Given the description of an element on the screen output the (x, y) to click on. 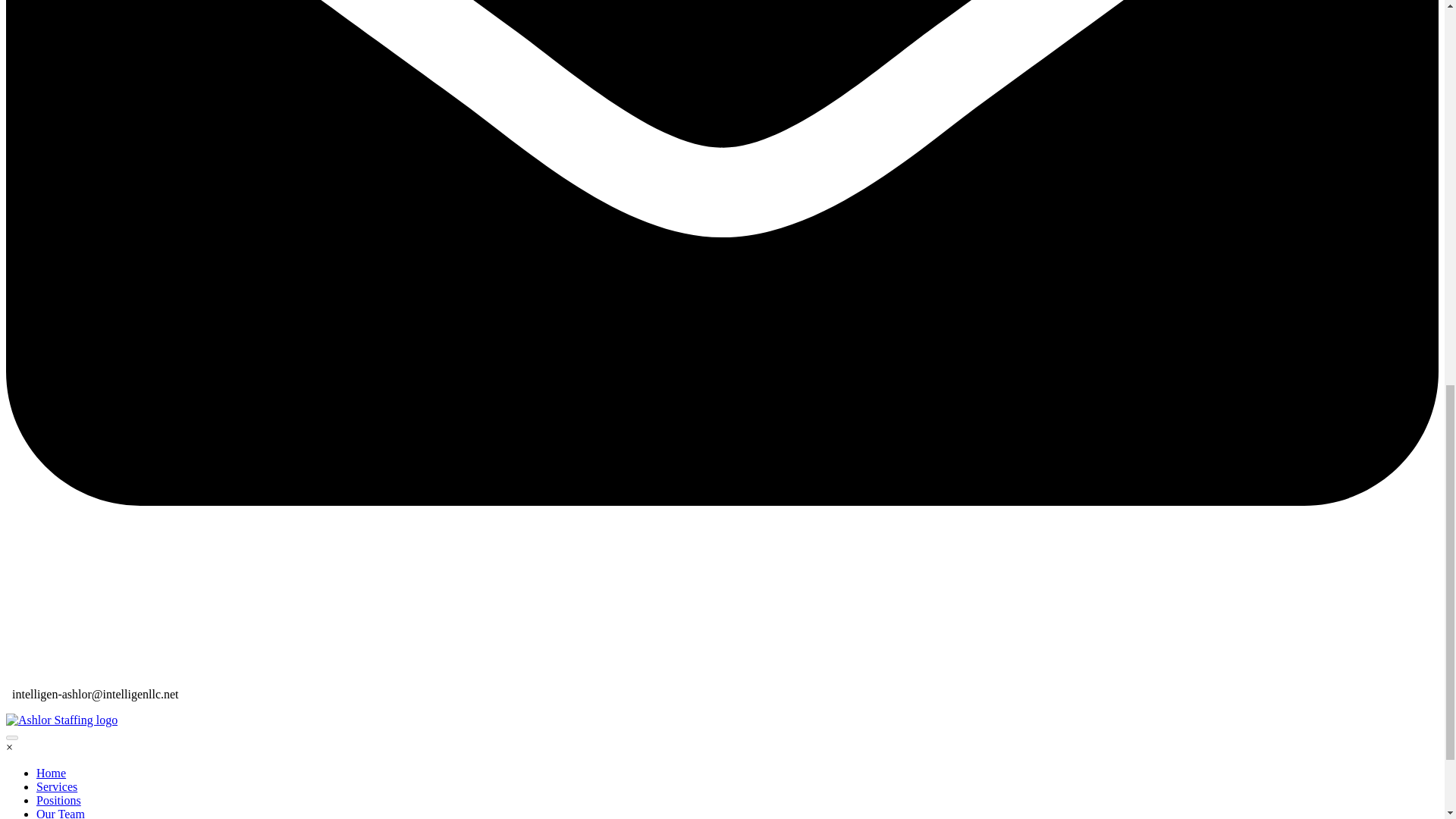
Positions (58, 799)
Our Team (60, 813)
Home (50, 772)
Services (56, 786)
